Given the description of an element on the screen output the (x, y) to click on. 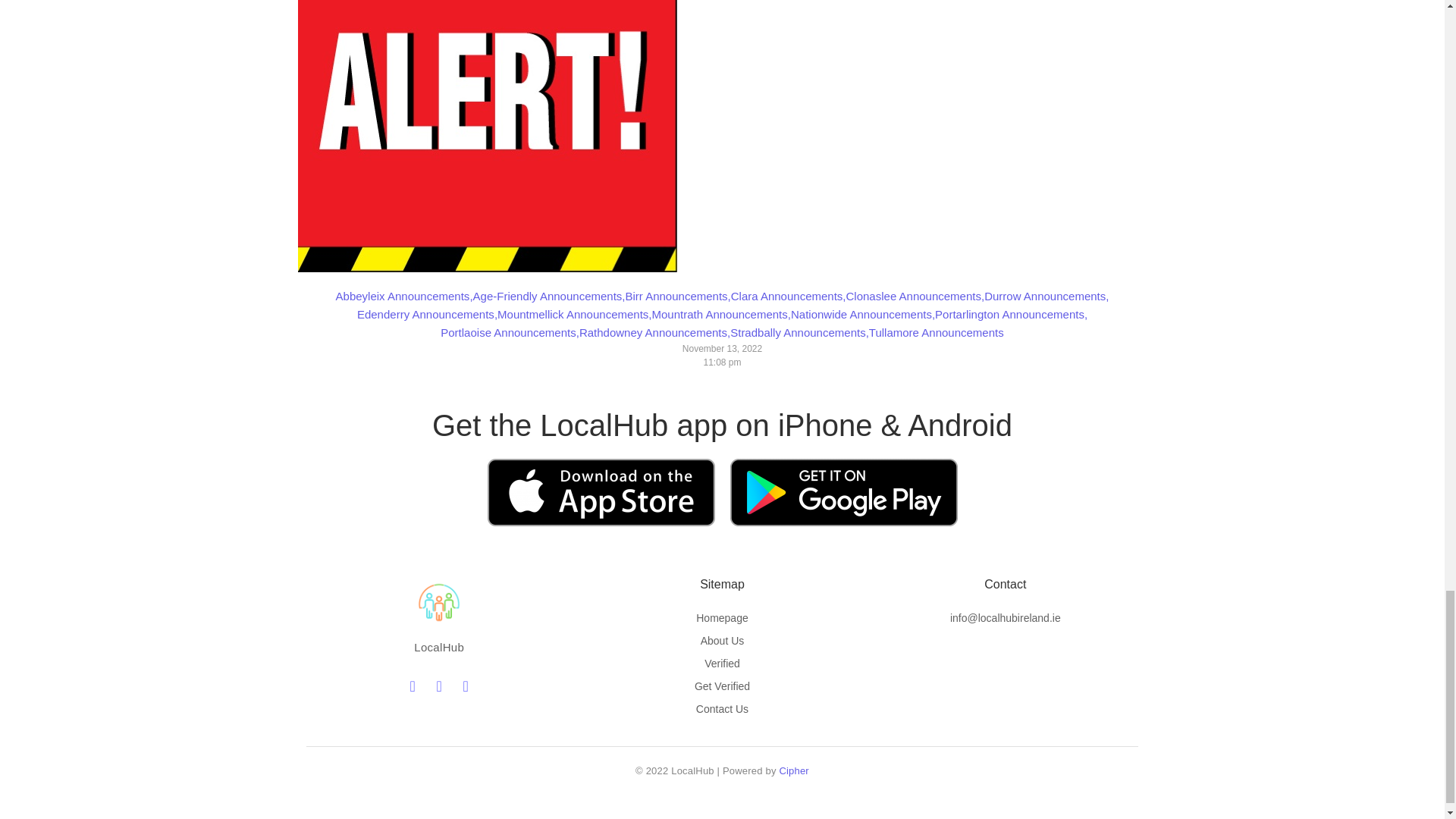
Verified (721, 663)
Homepage (721, 617)
Cipher (793, 770)
Get Verified (721, 686)
Contact Us (721, 708)
About Us (722, 640)
